Given the description of an element on the screen output the (x, y) to click on. 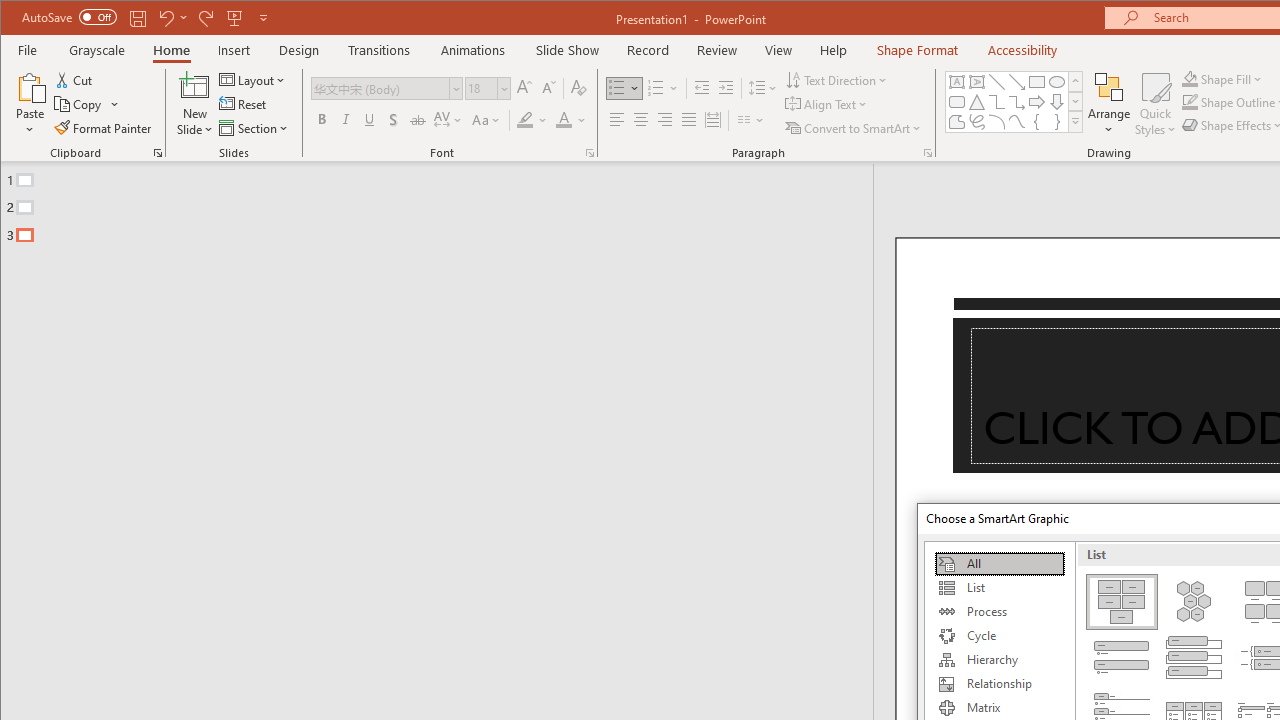
Cycle (999, 636)
Shape Format (916, 50)
Basic Block List (1121, 601)
Shape Outline Blue, Accent 1 (1189, 101)
